Given the description of an element on the screen output the (x, y) to click on. 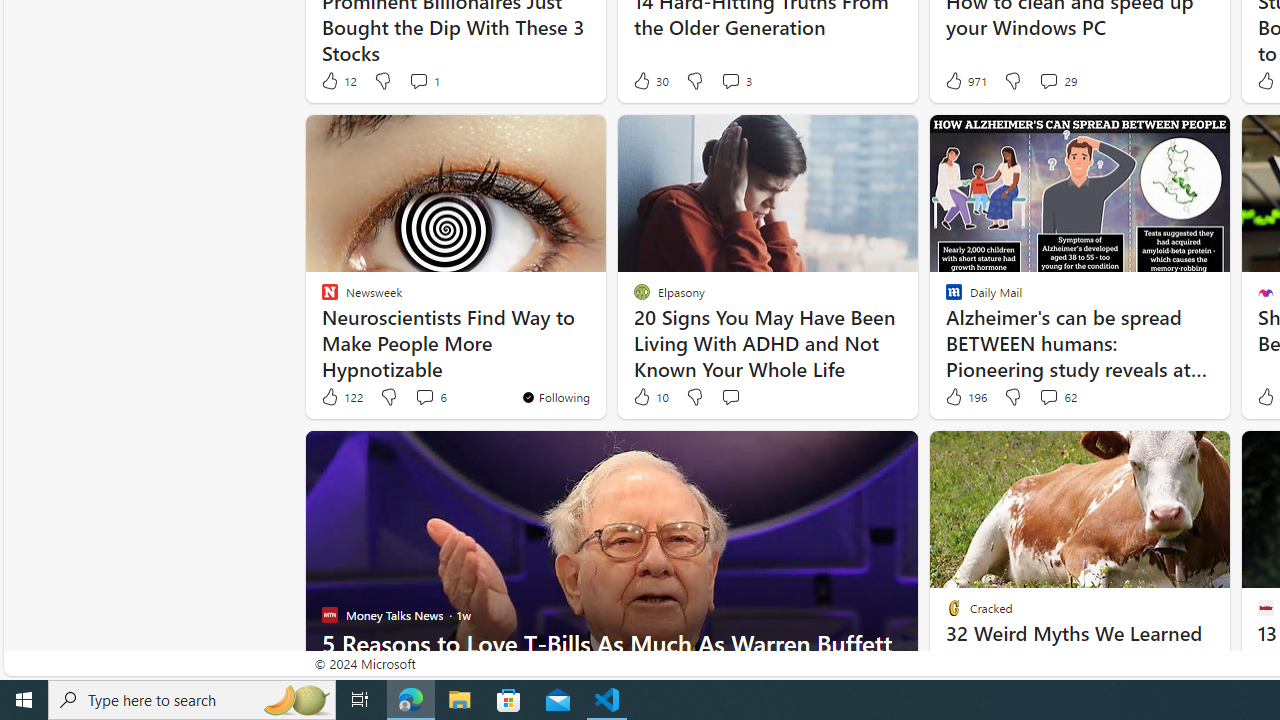
Hide this story (1169, 454)
View comments 29 Comment (1048, 80)
30 Like (650, 80)
122 Like (341, 397)
View comments 6 Comment (424, 396)
